Given the description of an element on the screen output the (x, y) to click on. 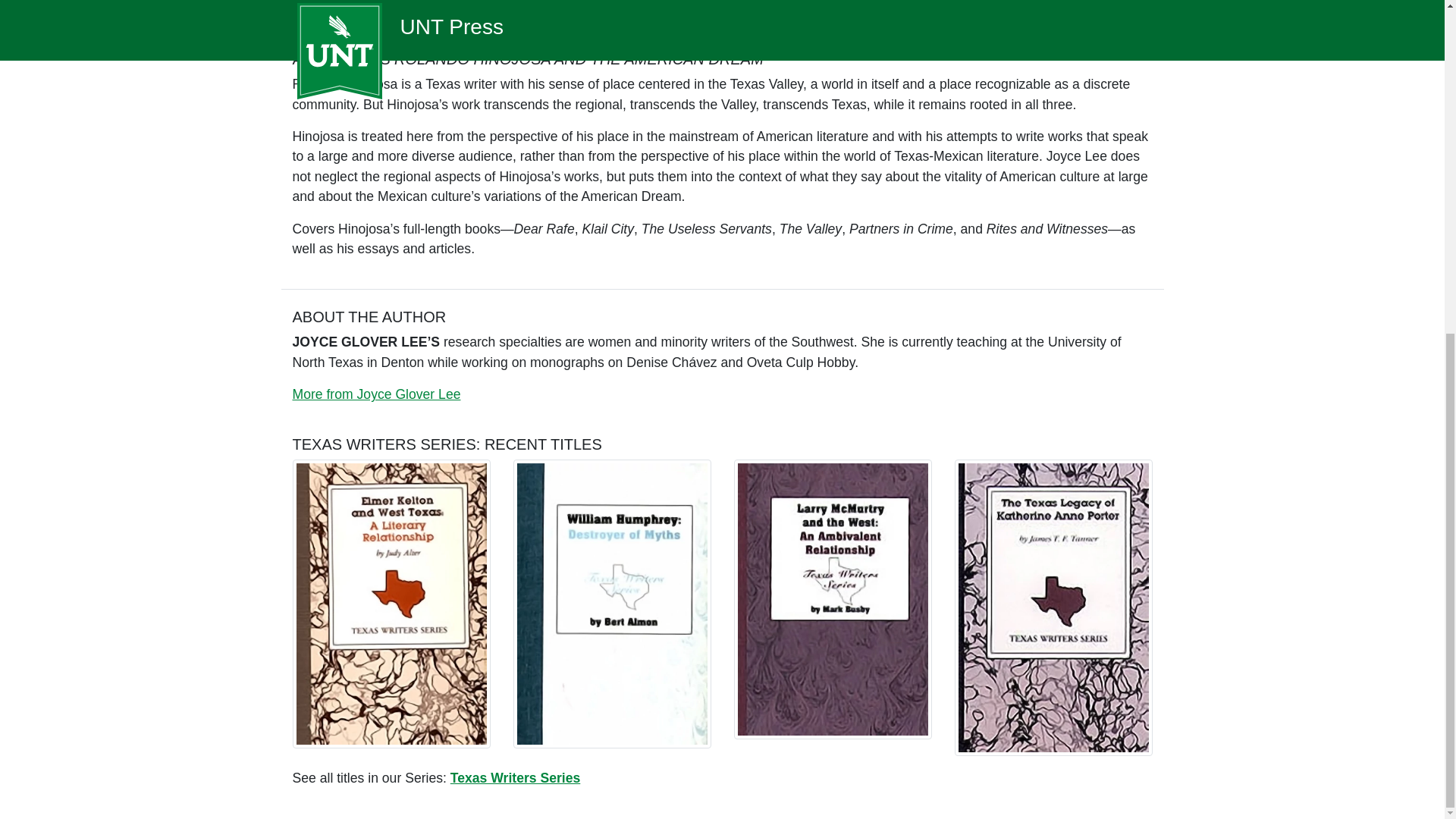
Texas Writers Series (514, 777)
More from Joyce Glover Lee (376, 394)
